Given the description of an element on the screen output the (x, y) to click on. 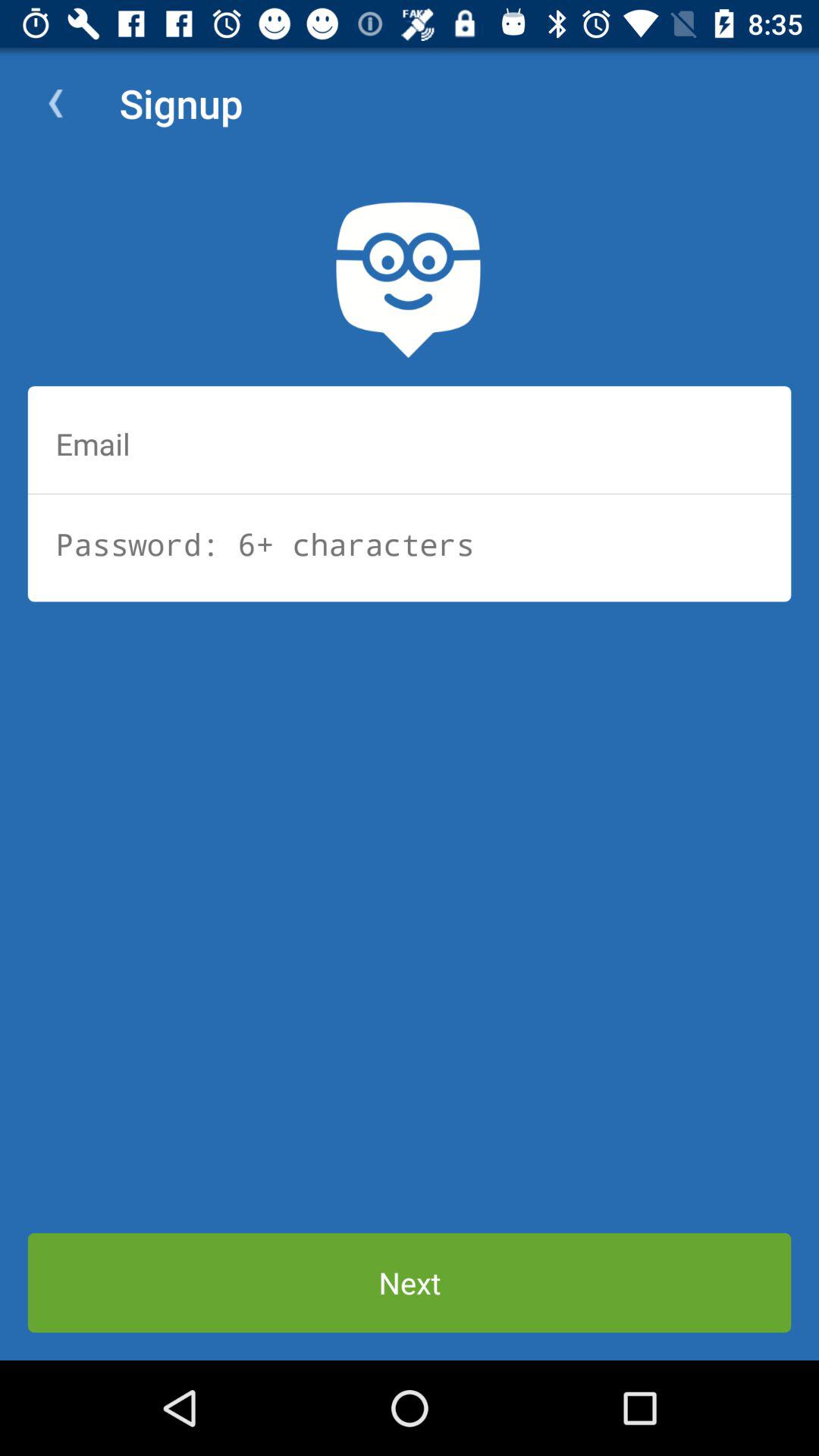
scroll to next (409, 1282)
